Given the description of an element on the screen output the (x, y) to click on. 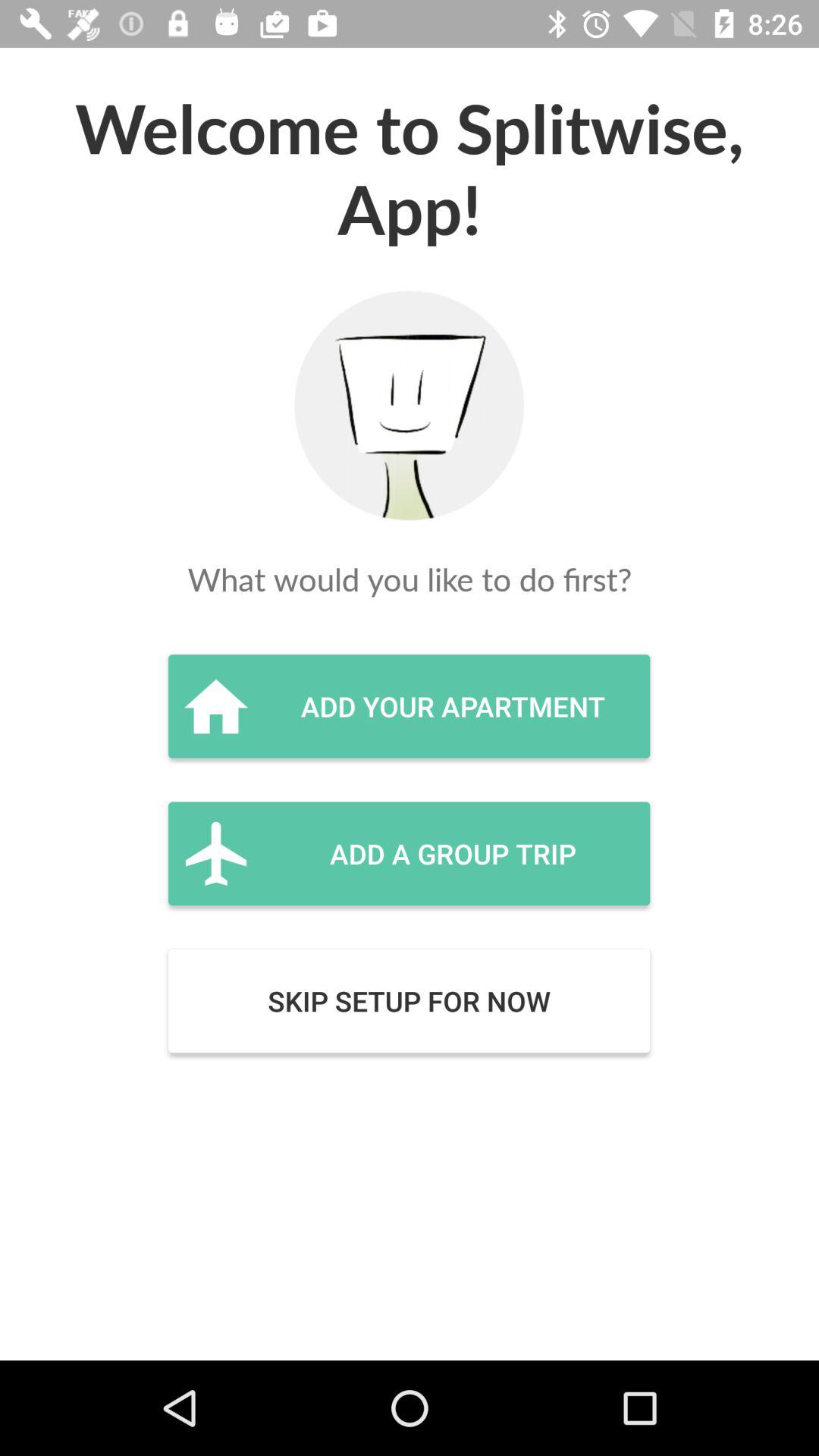
choose item below the add a group item (409, 1000)
